Given the description of an element on the screen output the (x, y) to click on. 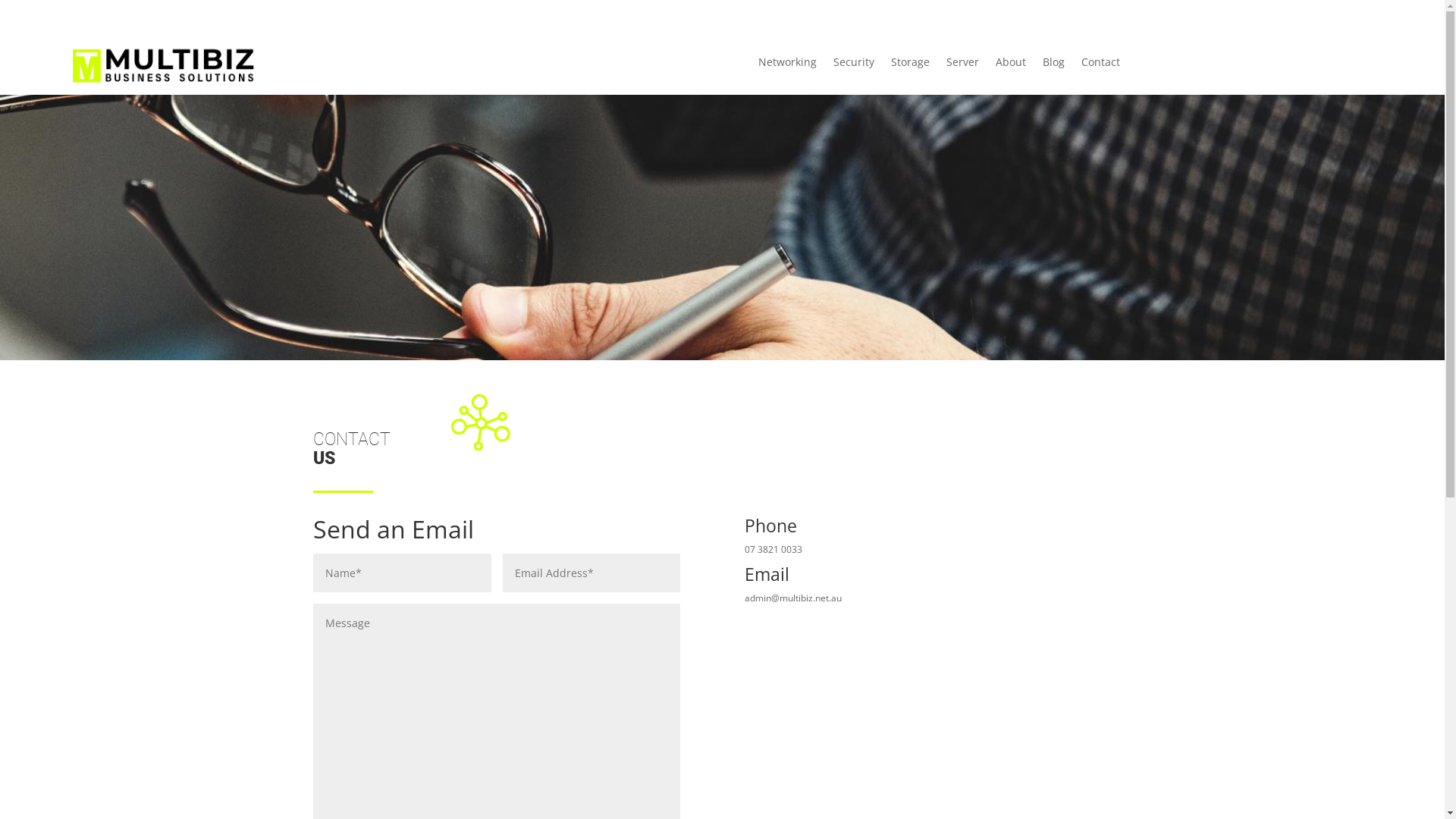
Blog Element type: text (1053, 64)
About Element type: text (1010, 64)
Server Element type: text (962, 64)
Contact Element type: text (1100, 64)
Security Element type: text (853, 64)
Storage Element type: text (910, 64)
Networking Element type: text (787, 64)
